Given the description of an element on the screen output the (x, y) to click on. 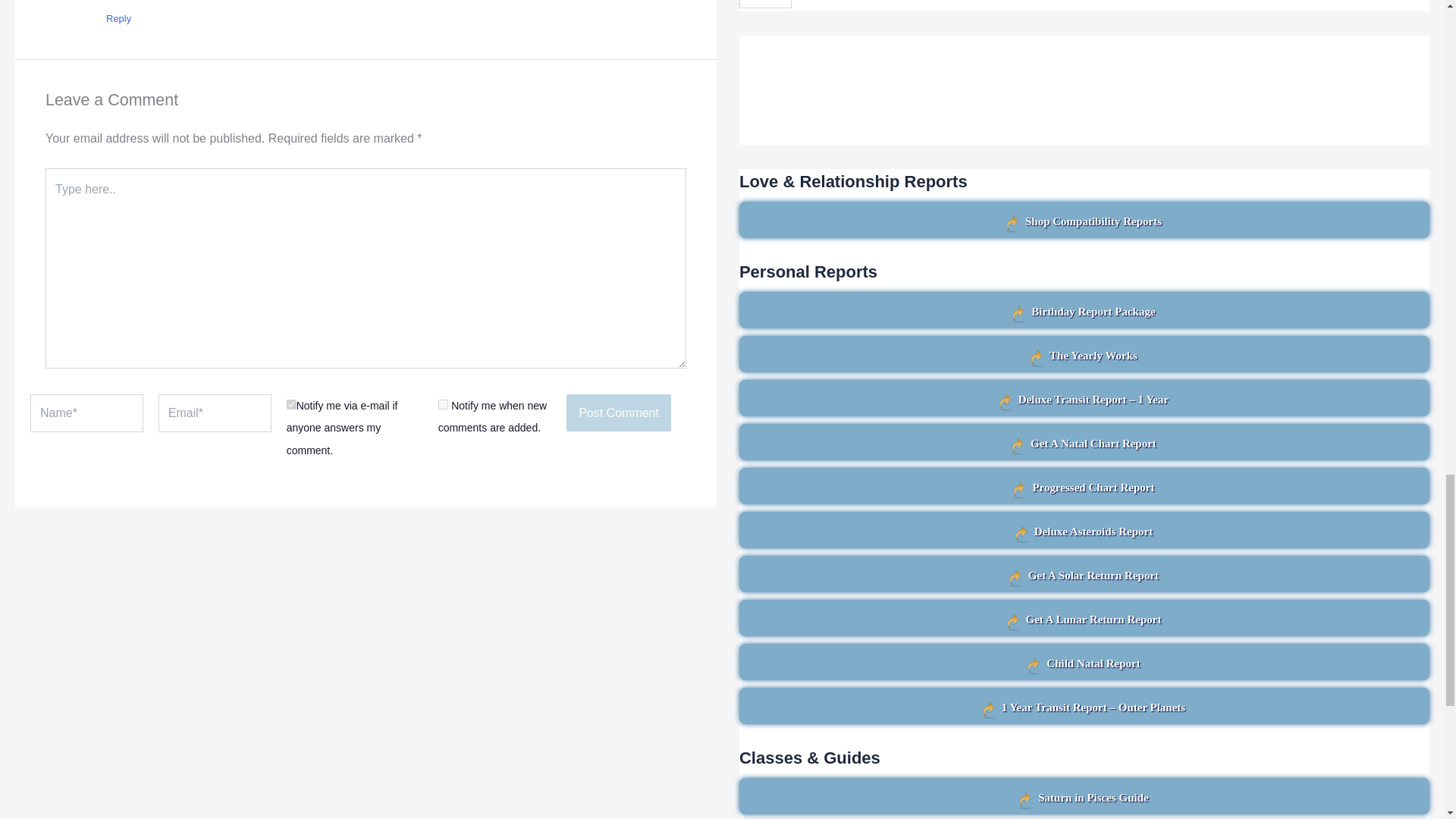
1 (443, 404)
on (291, 404)
Post Comment (618, 412)
